Given the description of an element on the screen output the (x, y) to click on. 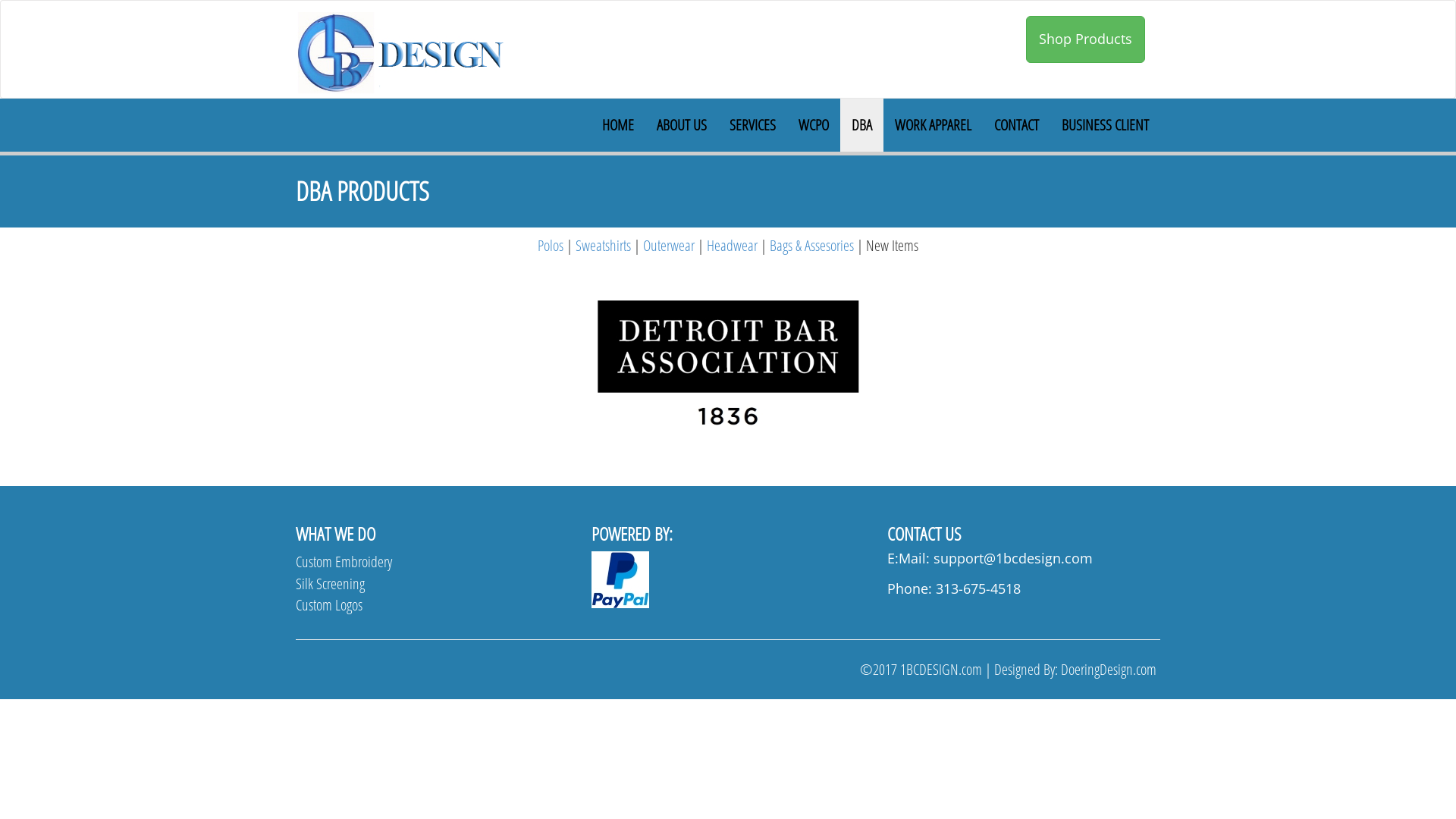
Bags & Assesories Element type: text (811, 245)
DBA Element type: text (861, 124)
BUSINESS CLIENT Element type: text (1105, 124)
Polos Element type: text (550, 245)
Designed By: DoeringDesign.com Element type: text (1075, 668)
ABOUT US Element type: text (681, 124)
HOME Element type: text (617, 124)
Outerwear Element type: text (668, 245)
support@1bcdesign.com Element type: text (1012, 558)
Sweatshirts Element type: text (602, 245)
Headwear Element type: text (731, 245)
Shop Products Element type: text (1085, 38)
CONTACT Element type: text (1016, 124)
WORK APPAREL Element type: text (932, 124)
WCPO Element type: text (813, 124)
SERVICES Element type: text (752, 124)
